Given the description of an element on the screen output the (x, y) to click on. 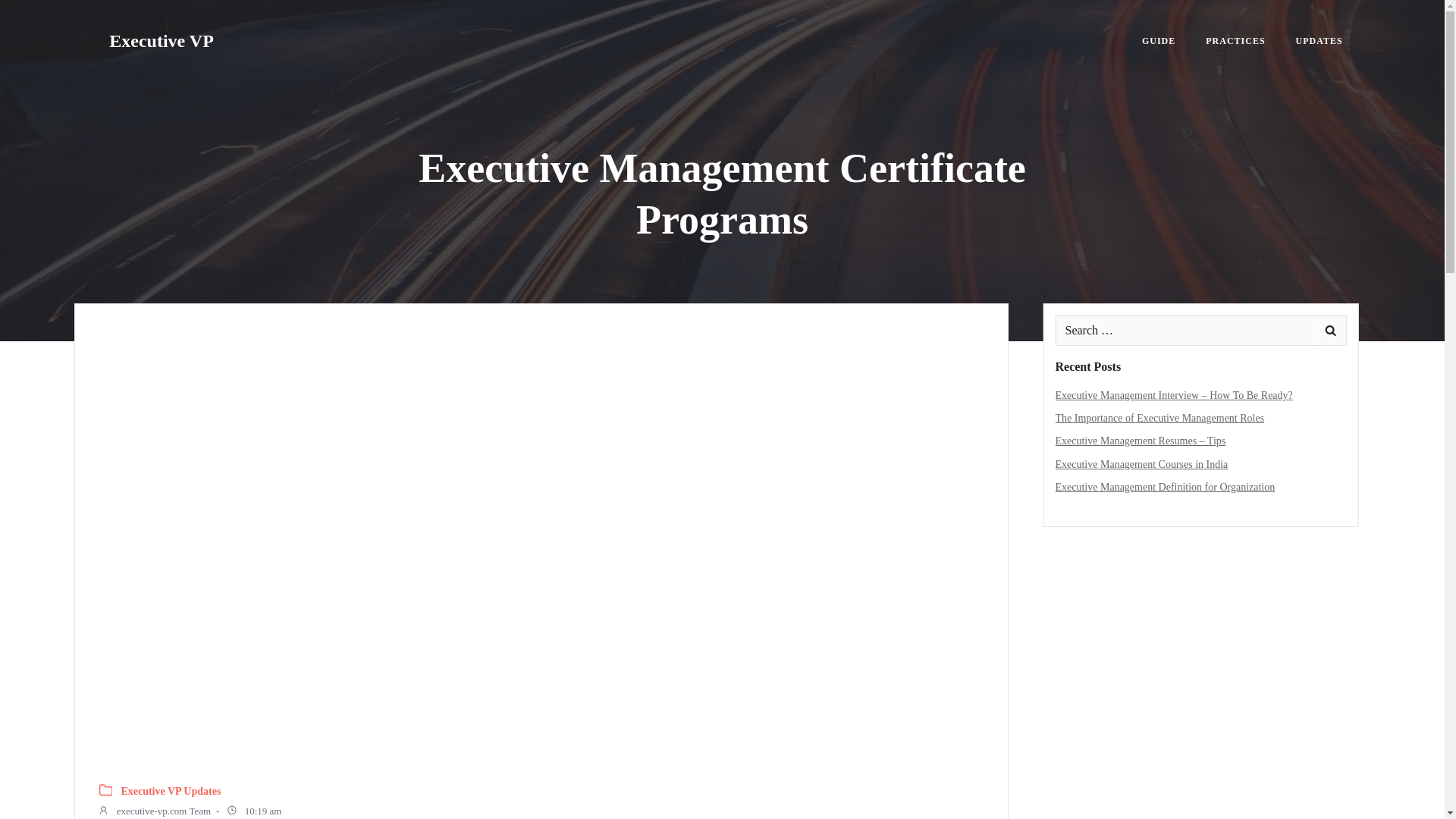
Search  (29, 14)
executive-vp.com Team (154, 811)
10:19 am (253, 811)
PRACTICES (1235, 40)
The Importance of Executive Management Roles (1160, 418)
GUIDE (1157, 40)
UPDATES (1318, 40)
Executive VP (161, 40)
Executive Management Courses in India (1141, 464)
Executive Management Definition for Organization (1165, 487)
